Given the description of an element on the screen output the (x, y) to click on. 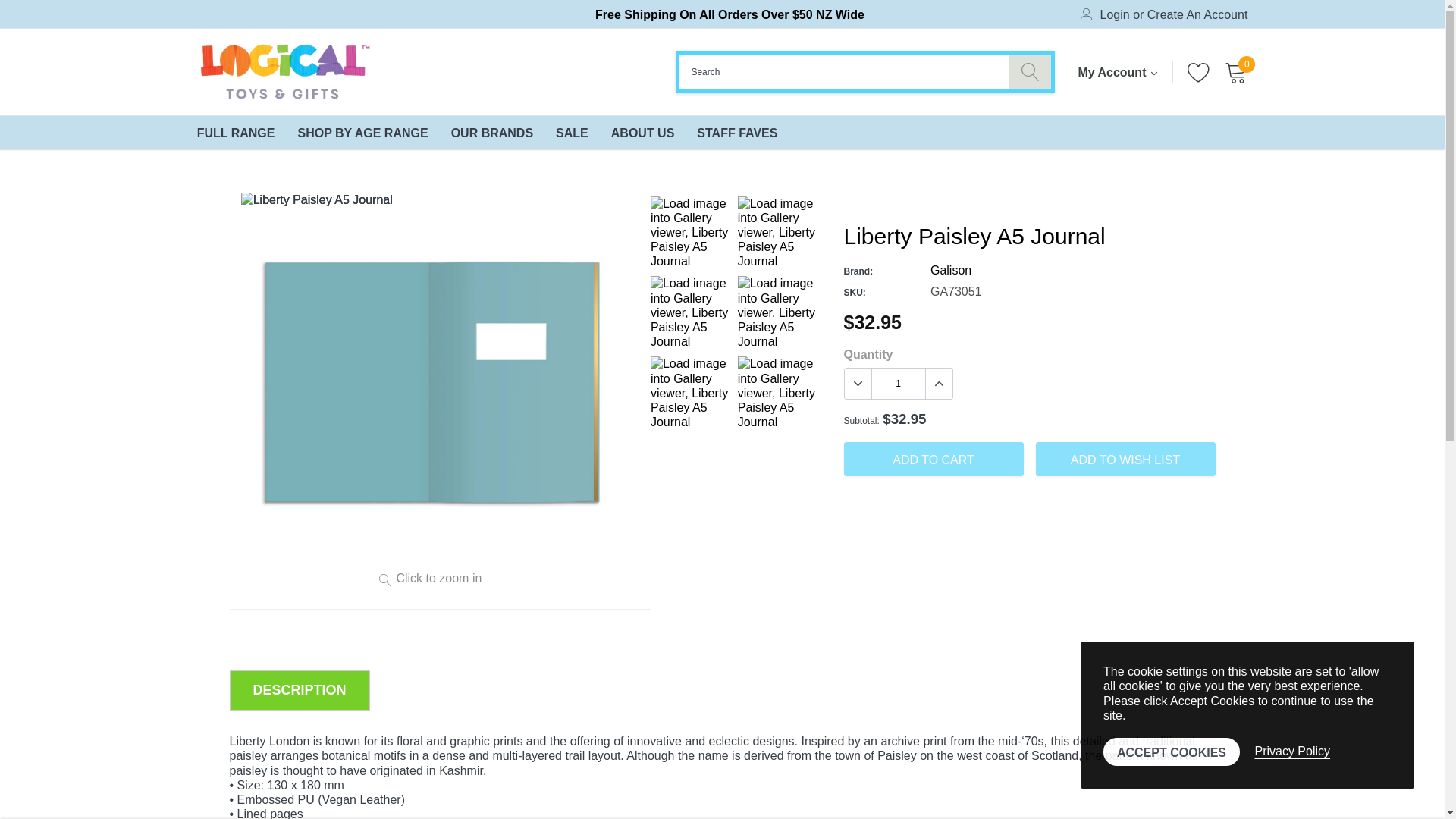
1 (898, 383)
Galison (950, 269)
Create An Account (1197, 15)
search (1030, 71)
Login (1114, 15)
